Given the description of an element on the screen output the (x, y) to click on. 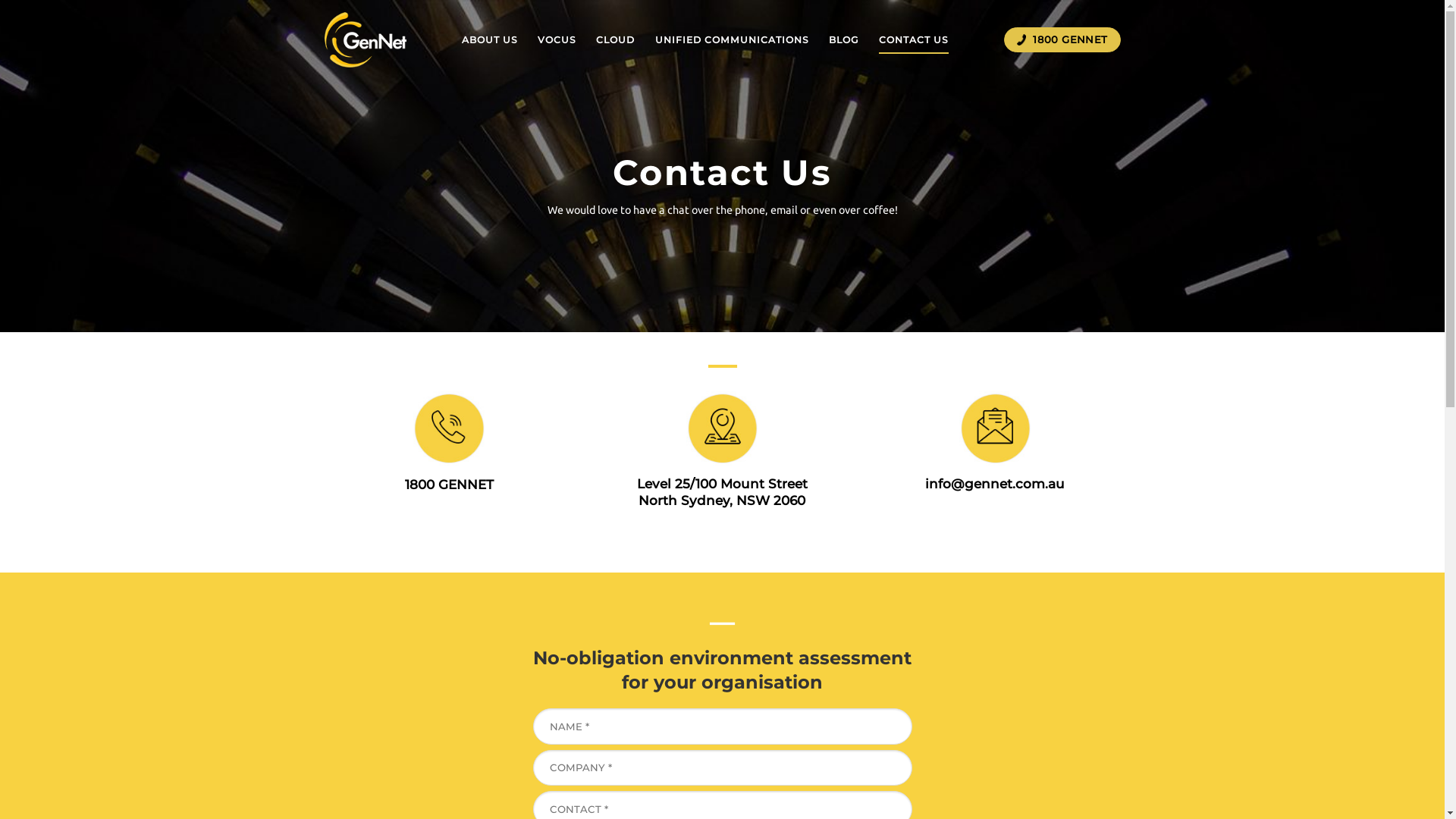
VOCUS Element type: text (556, 39)
ABOUT US Element type: text (489, 39)
CLOUD Element type: text (615, 39)
UNIFIED COMMUNICATIONS Element type: text (732, 39)
BLOG Element type: text (843, 39)
Skip to content Element type: text (0, 0)
1800 GENNET Element type: text (1062, 40)
CONTACT US Element type: text (913, 39)
1800 GENNET Element type: text (448, 484)
info@gennet.com.au Element type: text (994, 483)
Level 25/100 Mount Street
North Sydney, NSW 2060 Element type: text (722, 491)
